Given the description of an element on the screen output the (x, y) to click on. 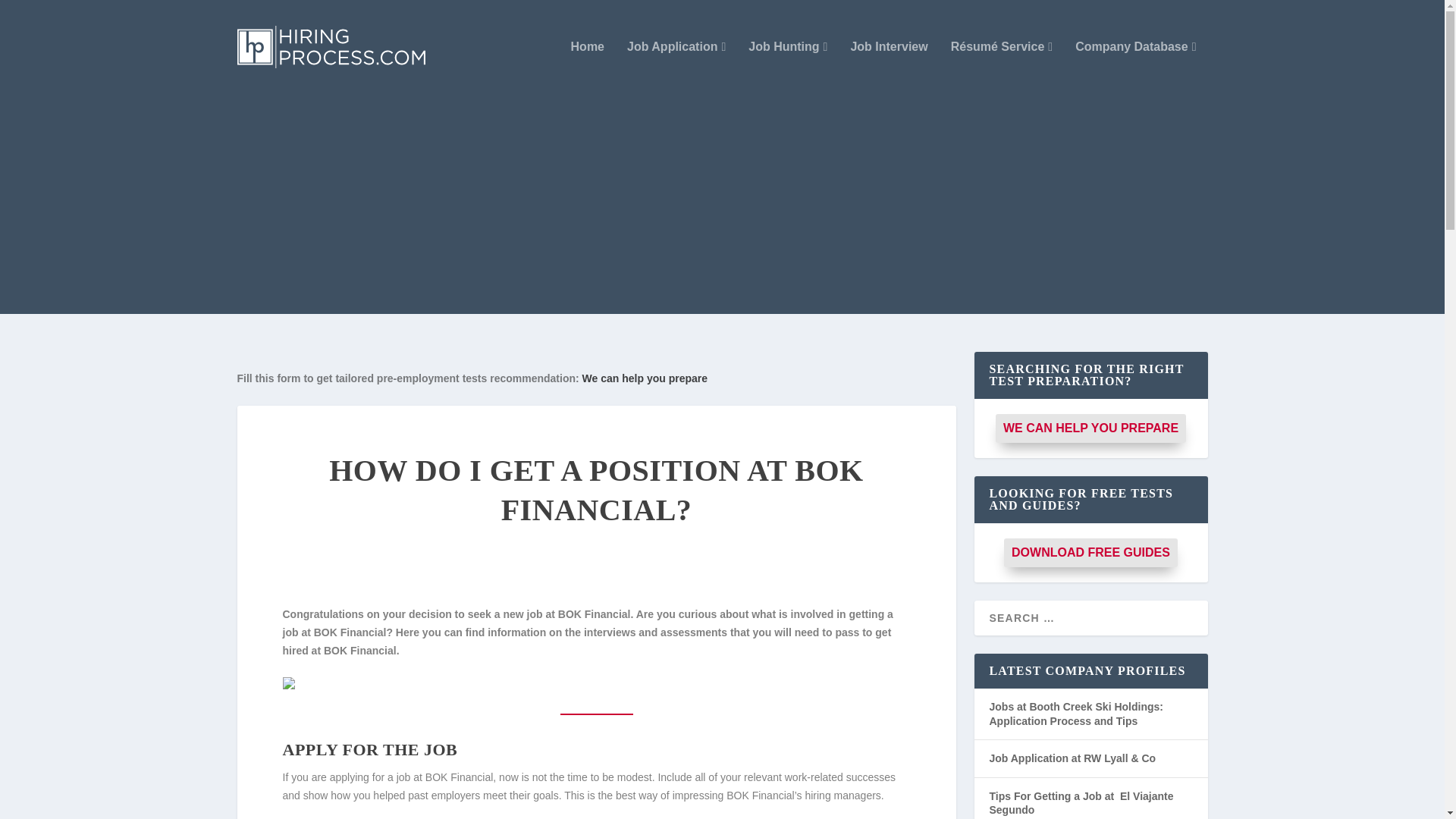
We can help you prepare (644, 378)
Home (587, 67)
Company Database (1135, 67)
Job Hunting (787, 67)
Job Application (676, 67)
Job Interview (888, 67)
